Given the description of an element on the screen output the (x, y) to click on. 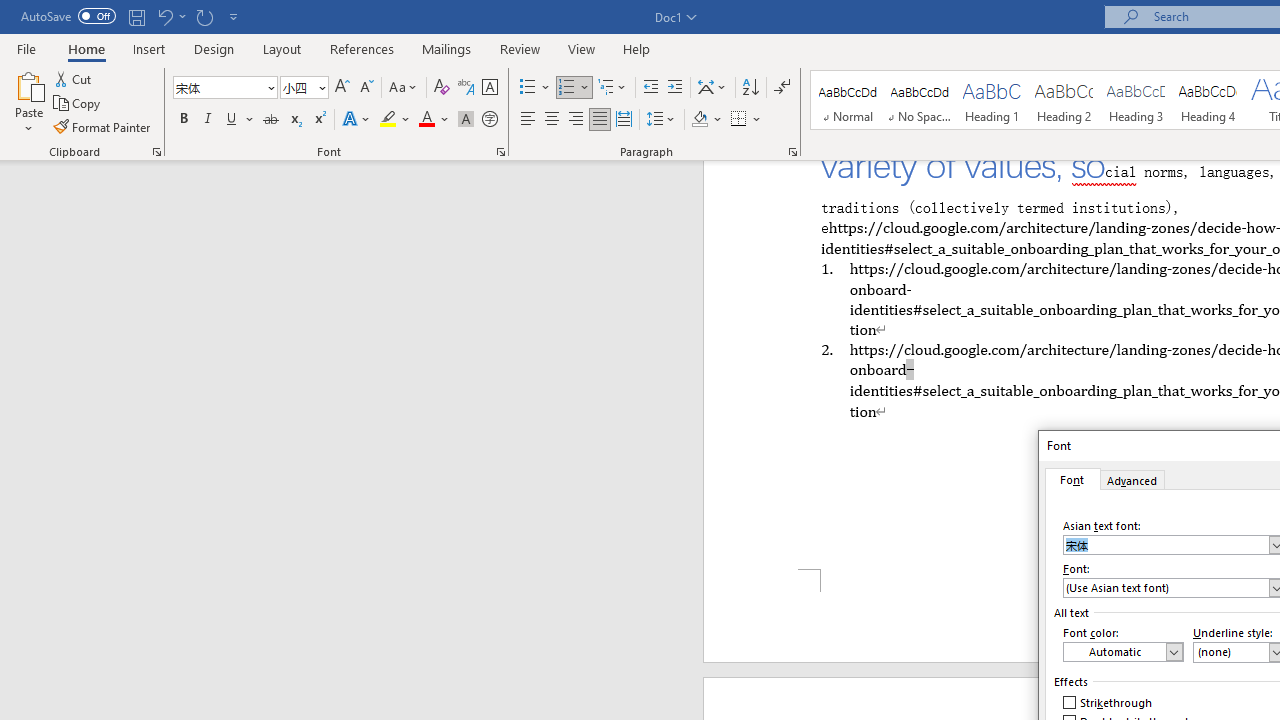
Increase Indent (675, 87)
Line and Paragraph Spacing (661, 119)
Strikethrough (270, 119)
Font Color (Automatic) (1123, 651)
Align Right (575, 119)
